Given the description of an element on the screen output the (x, y) to click on. 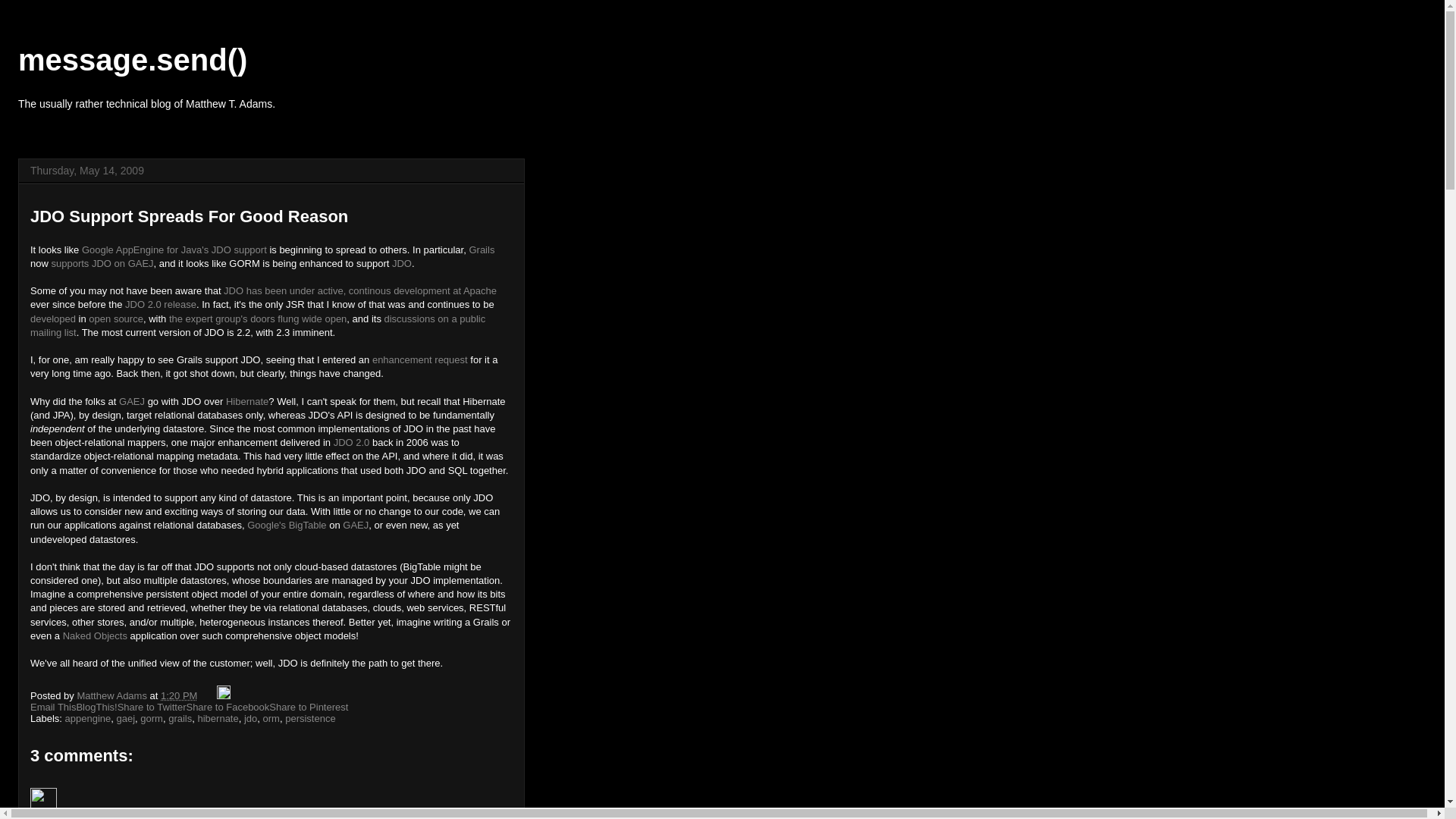
GAEJ (131, 401)
open source (115, 318)
BlogThis! (95, 706)
gorm (151, 717)
Share to Twitter (151, 706)
developed (52, 318)
the expert group's doors flung wide open (257, 318)
Naked Objects (95, 635)
Edit Post (223, 695)
Share to Pinterest (308, 706)
Email This (52, 706)
persistence (309, 717)
permanent link (178, 695)
Hibernate (246, 401)
grails (180, 717)
